Given the description of an element on the screen output the (x, y) to click on. 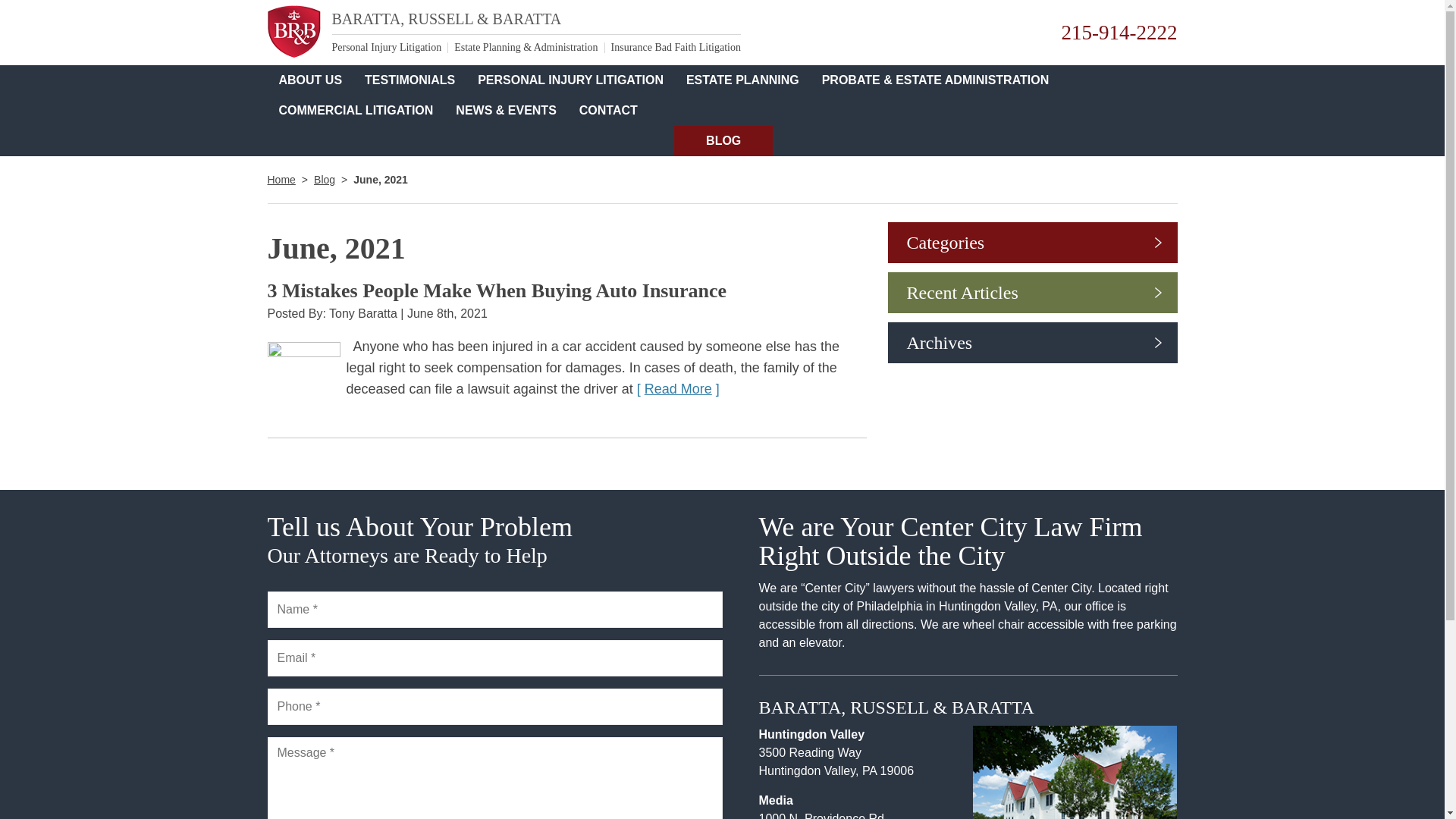
TESTIMONIALS (409, 80)
Home (280, 179)
ABOUT US (309, 80)
PERSONAL INJURY LITIGATION (570, 80)
ESTATE PLANNING (742, 80)
